Given the description of an element on the screen output the (x, y) to click on. 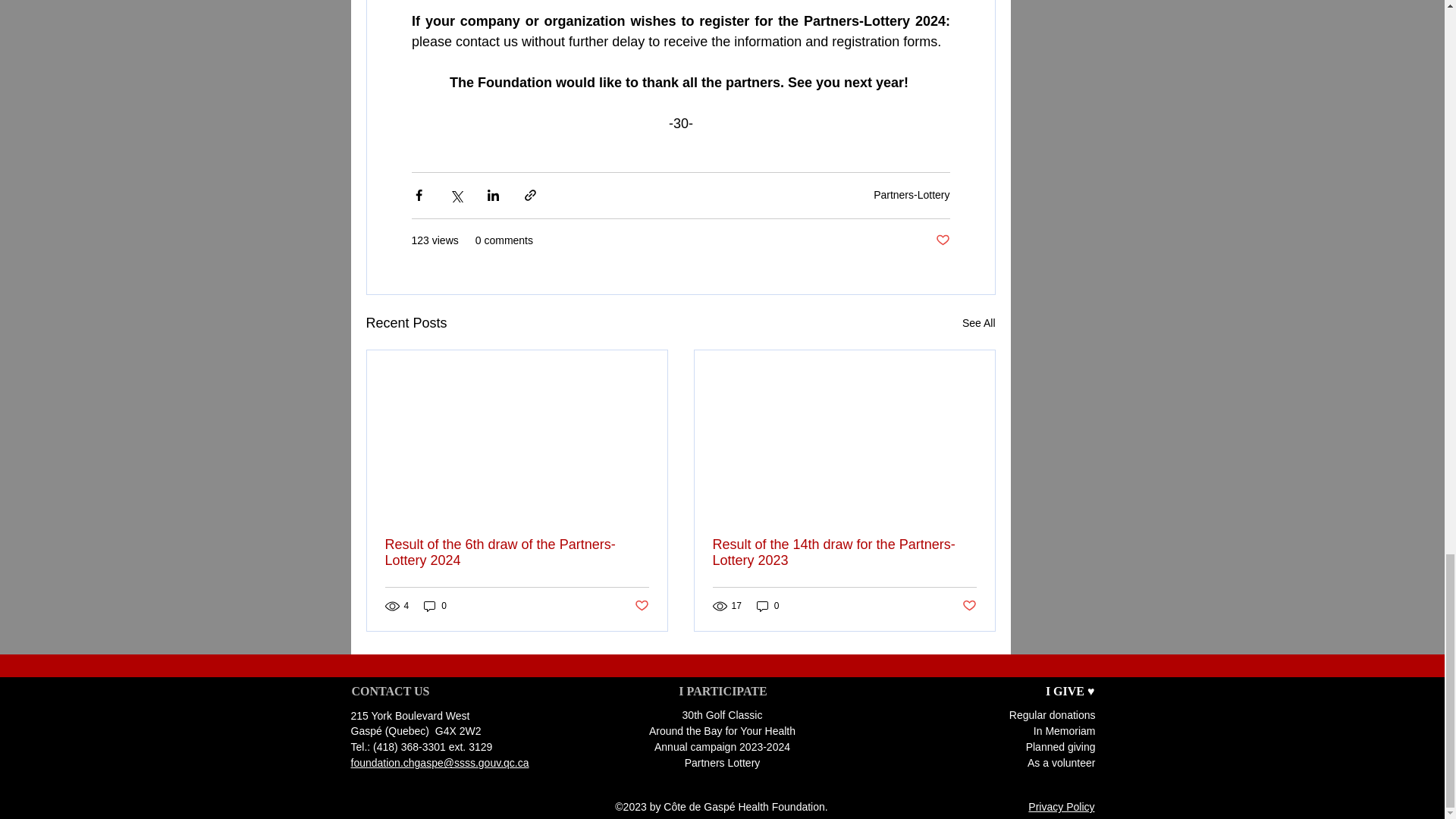
30th Golf Classic (722, 715)
0 (767, 605)
215 York Boulevard West (409, 715)
Annual campaign 2023-2024 (721, 746)
Post not marked as liked (943, 240)
0 (435, 605)
Post not marked as liked (967, 606)
Around the Bay for Your Health (721, 730)
Partners Lottery (722, 762)
See All (978, 323)
